Given the description of an element on the screen output the (x, y) to click on. 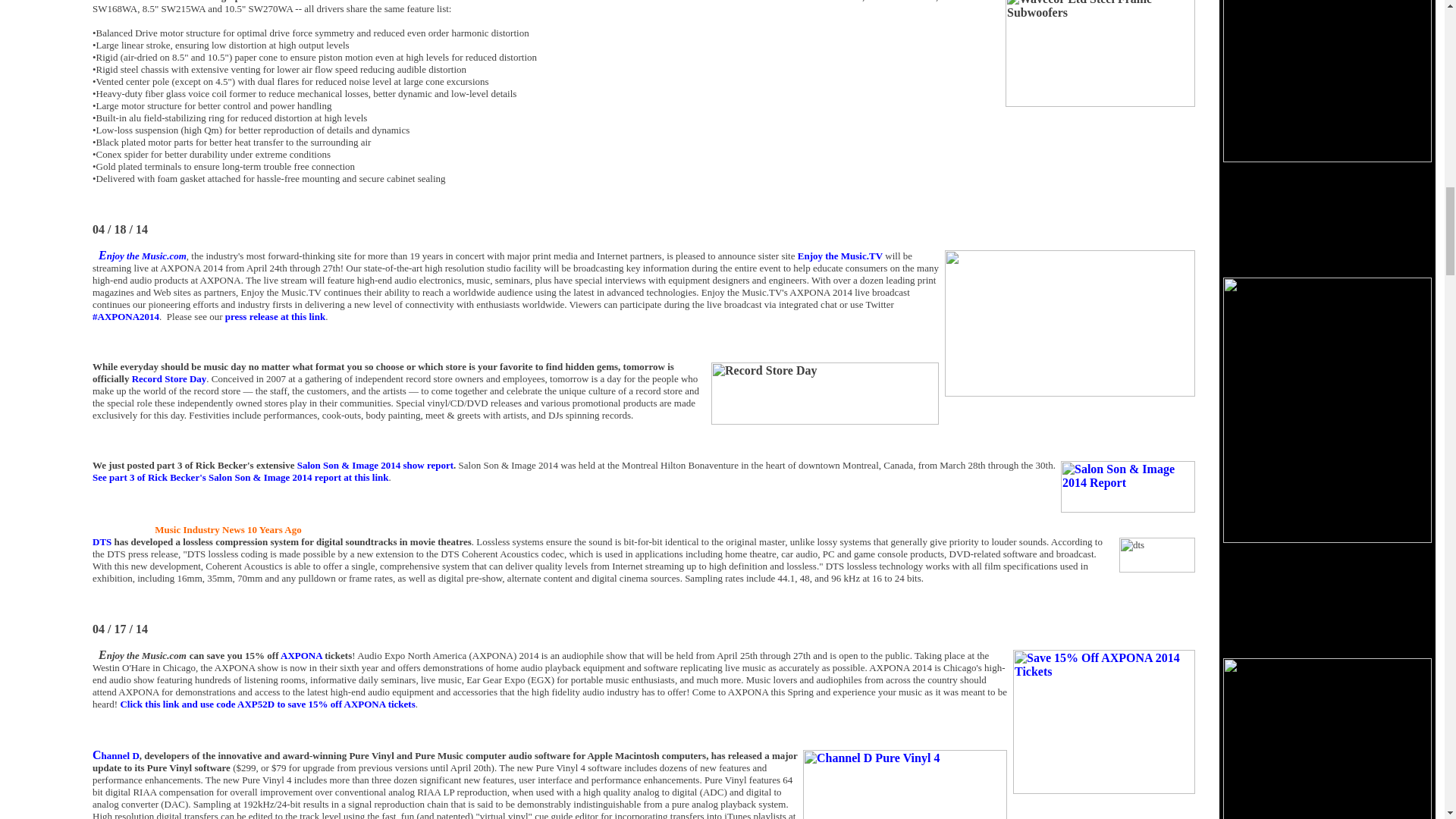
Enjoy the Music.TV (839, 255)
Enjoy the Music.com (142, 254)
press release at this link (274, 316)
Record Store Day (169, 378)
avecor Ltd (132, 1)
